Given the description of an element on the screen output the (x, y) to click on. 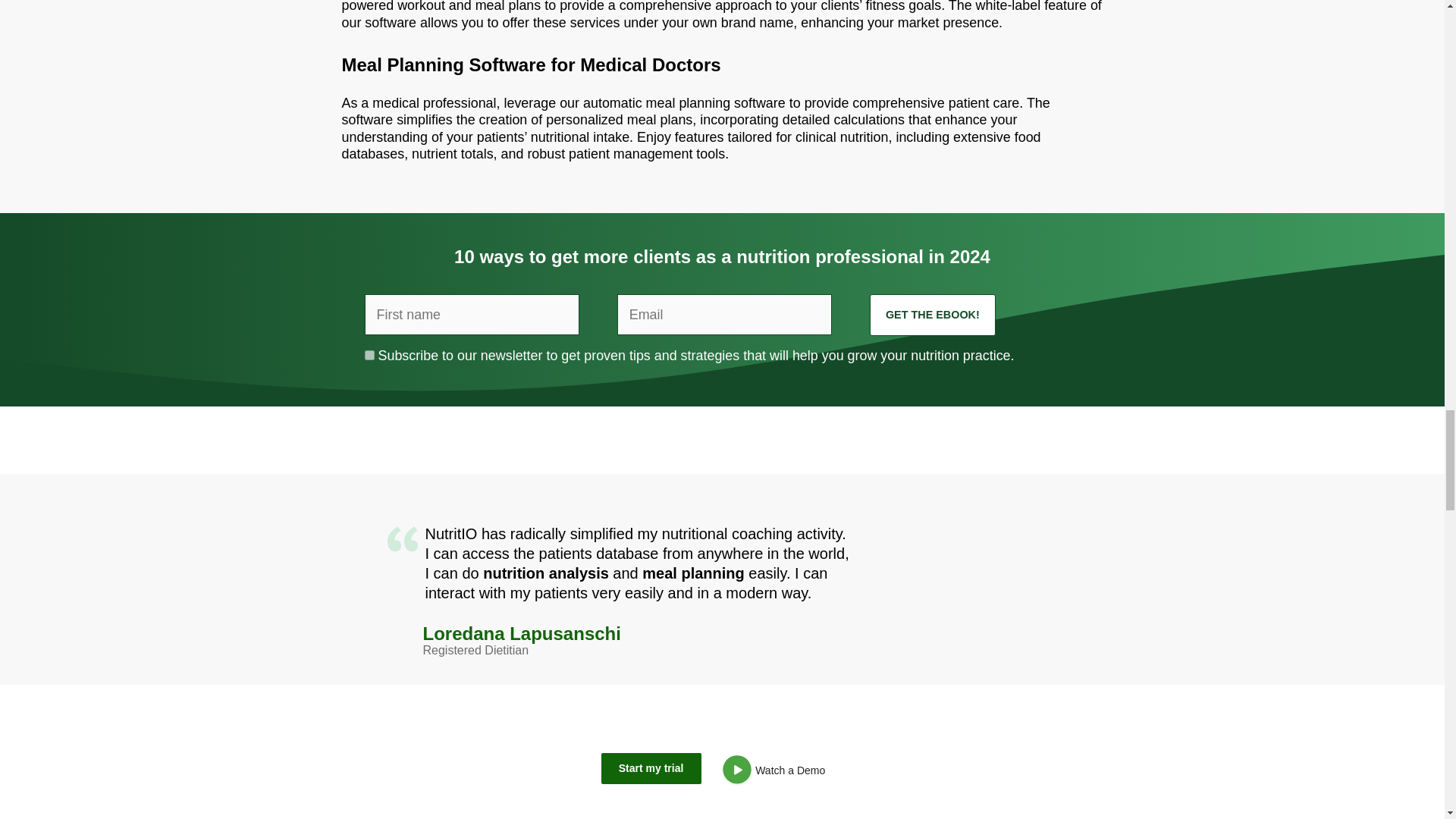
GET THE EBOOK! (932, 314)
Watch a Demo (778, 772)
Start my trial (651, 767)
1 (369, 355)
